Given the description of an element on the screen output the (x, y) to click on. 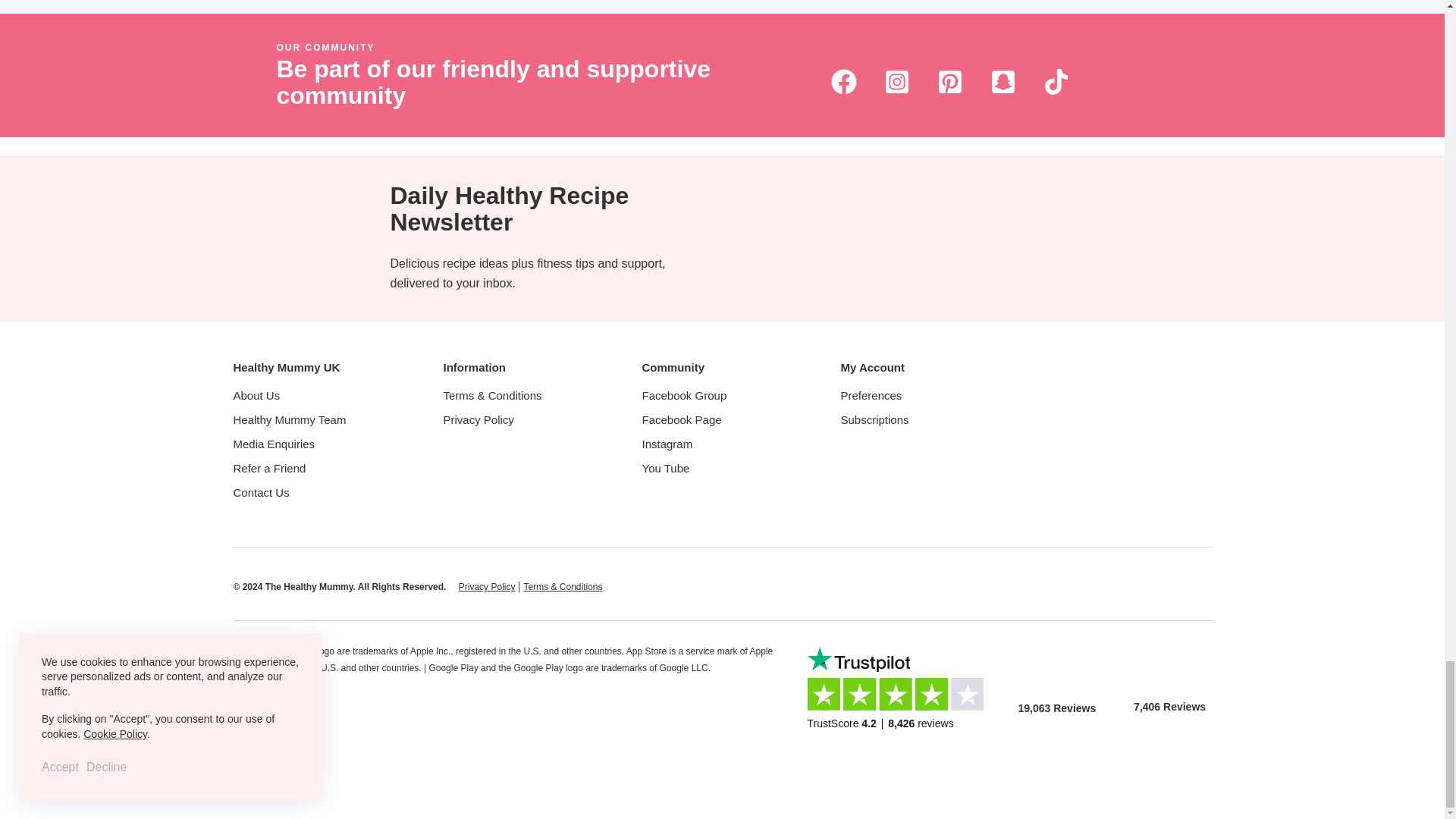
Customer reviews powered by Trustpilot (900, 700)
Privacy Policy (486, 586)
download on google play (1169, 661)
download on apple (1056, 662)
